Given the description of an element on the screen output the (x, y) to click on. 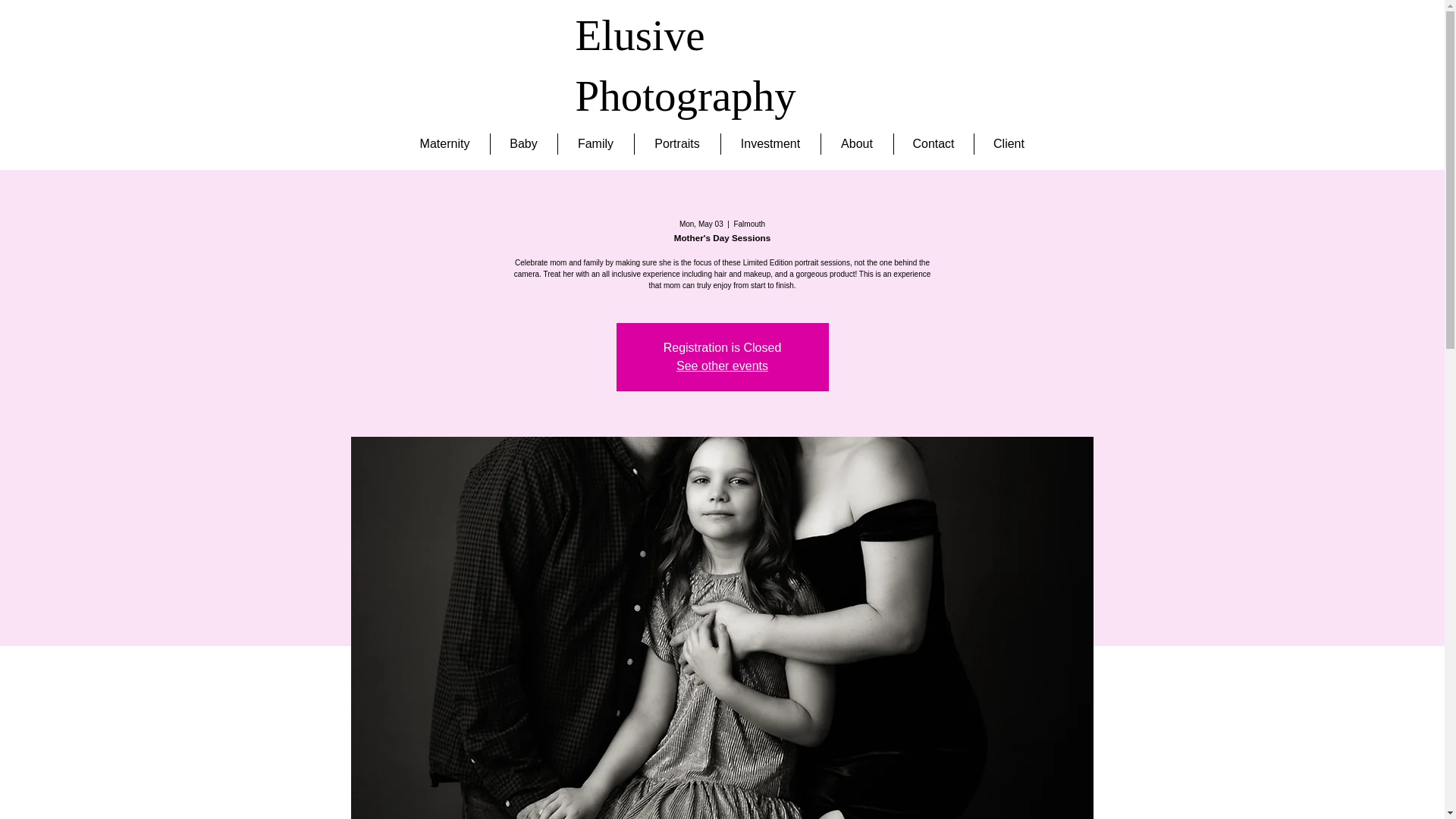
Family (595, 143)
Investment (769, 143)
See other events (722, 365)
Baby (522, 143)
Client (1008, 143)
Portraits (676, 143)
Contact (932, 143)
Maternity (444, 143)
Elusive Photography (684, 65)
About (856, 143)
